Given the description of an element on the screen output the (x, y) to click on. 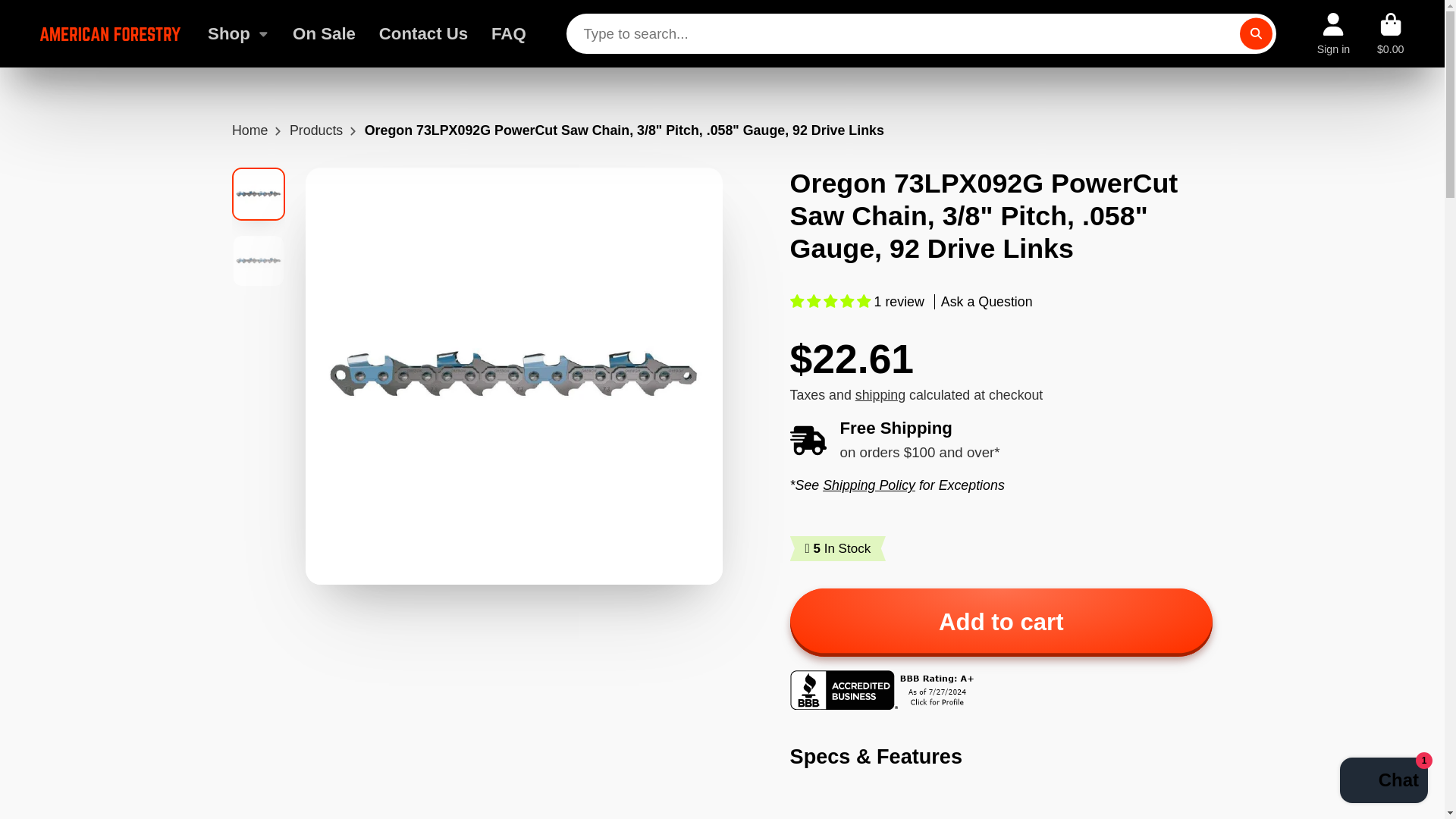
Home (249, 130)
Logo (110, 33)
Account (1334, 33)
Add to cart (1001, 622)
Shop (238, 33)
FAQ (508, 33)
Cart (1391, 33)
On Sale (323, 33)
Shipping Policy (868, 485)
shipping (880, 394)
Contact Us (423, 33)
Products (315, 130)
